Given the description of an element on the screen output the (x, y) to click on. 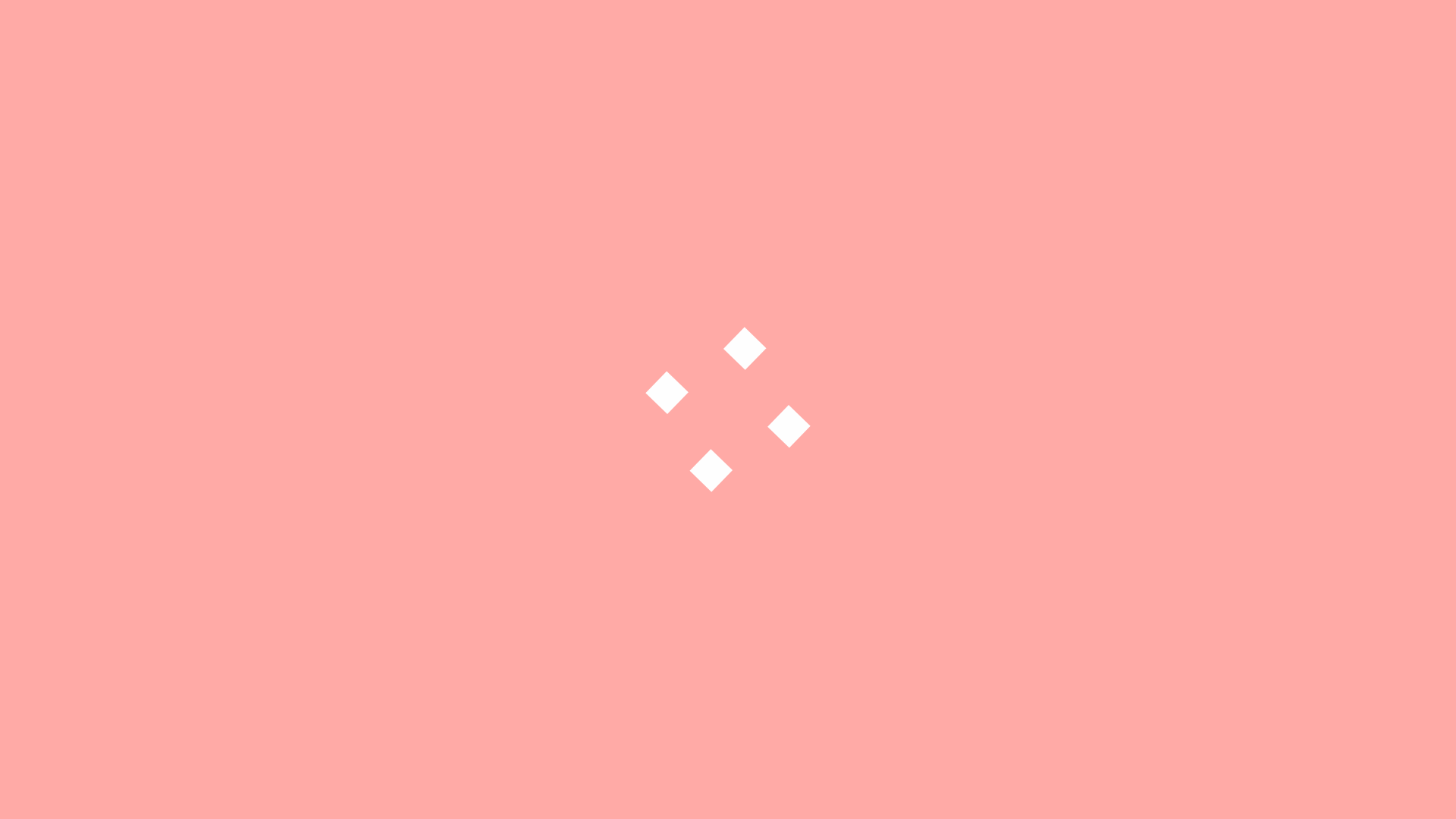
OVER MIJ Element type: text (69, 768)
Zoeken Element type: text (1041, 297)
Carlen Element type: text (61, 686)
